Given the description of an element on the screen output the (x, y) to click on. 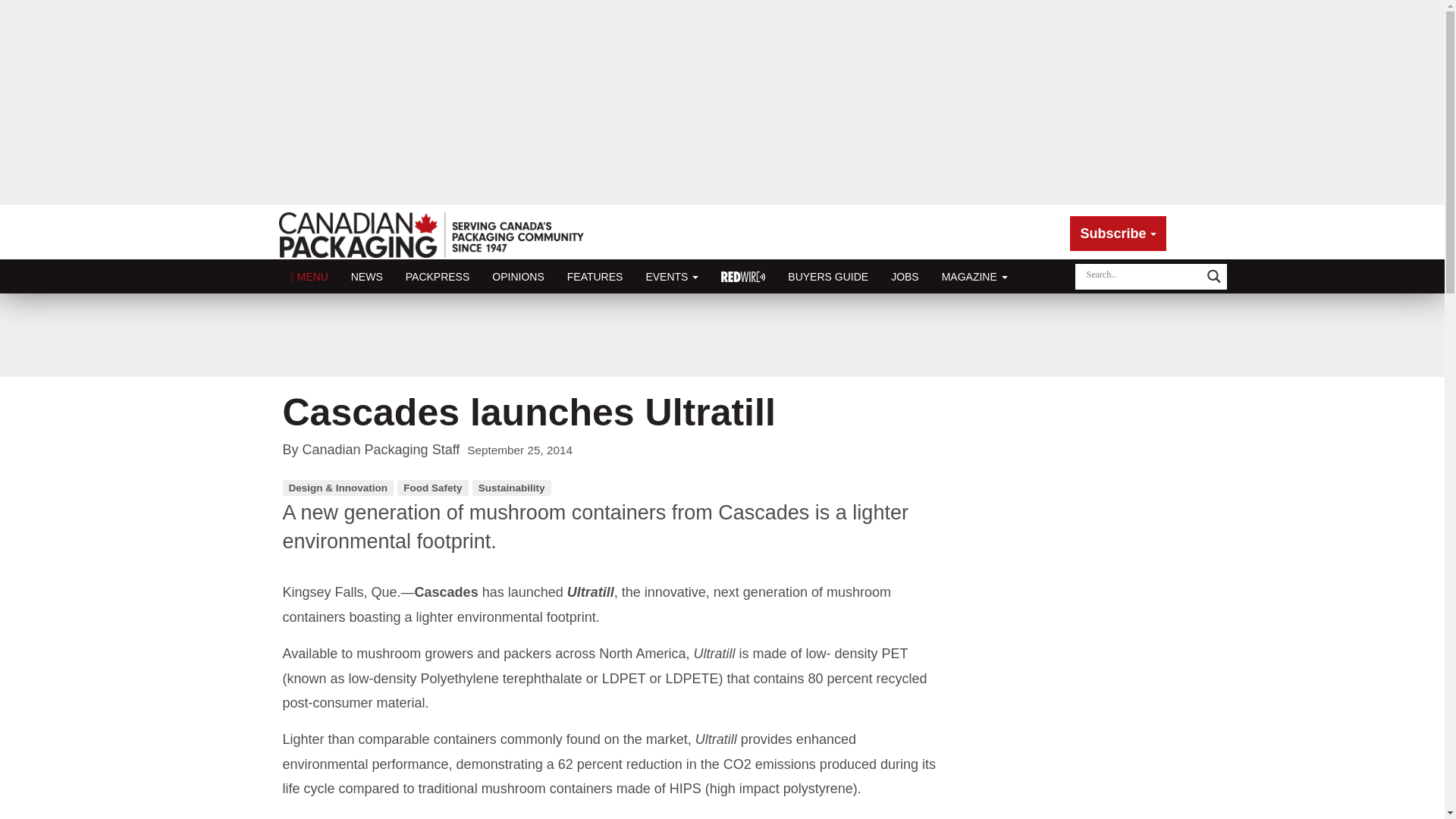
Click to show site navigation (309, 276)
NEWS (366, 276)
3rd party ad content (721, 335)
JOBS (904, 276)
EVENTS (671, 276)
Canadian Packaging (432, 241)
BUYERS GUIDE (827, 276)
MENU (309, 276)
OPINIONS (517, 276)
